Given the description of an element on the screen output the (x, y) to click on. 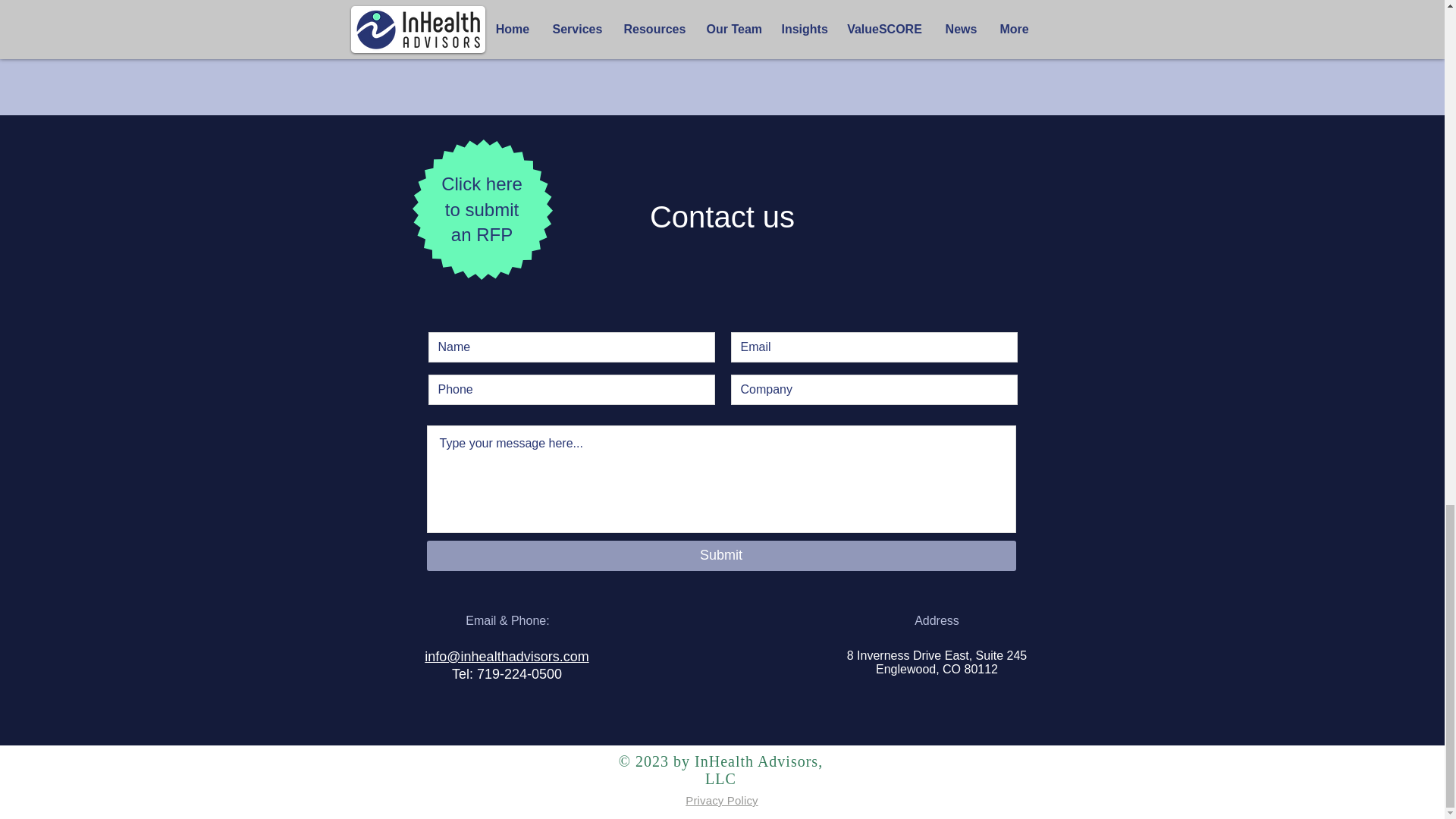
Privacy Policy (721, 799)
Click Here to Listen to Our Podcast, Voices InHealth (721, 33)
Submit (720, 555)
Click here to submit an RFP (481, 208)
